Given the description of an element on the screen output the (x, y) to click on. 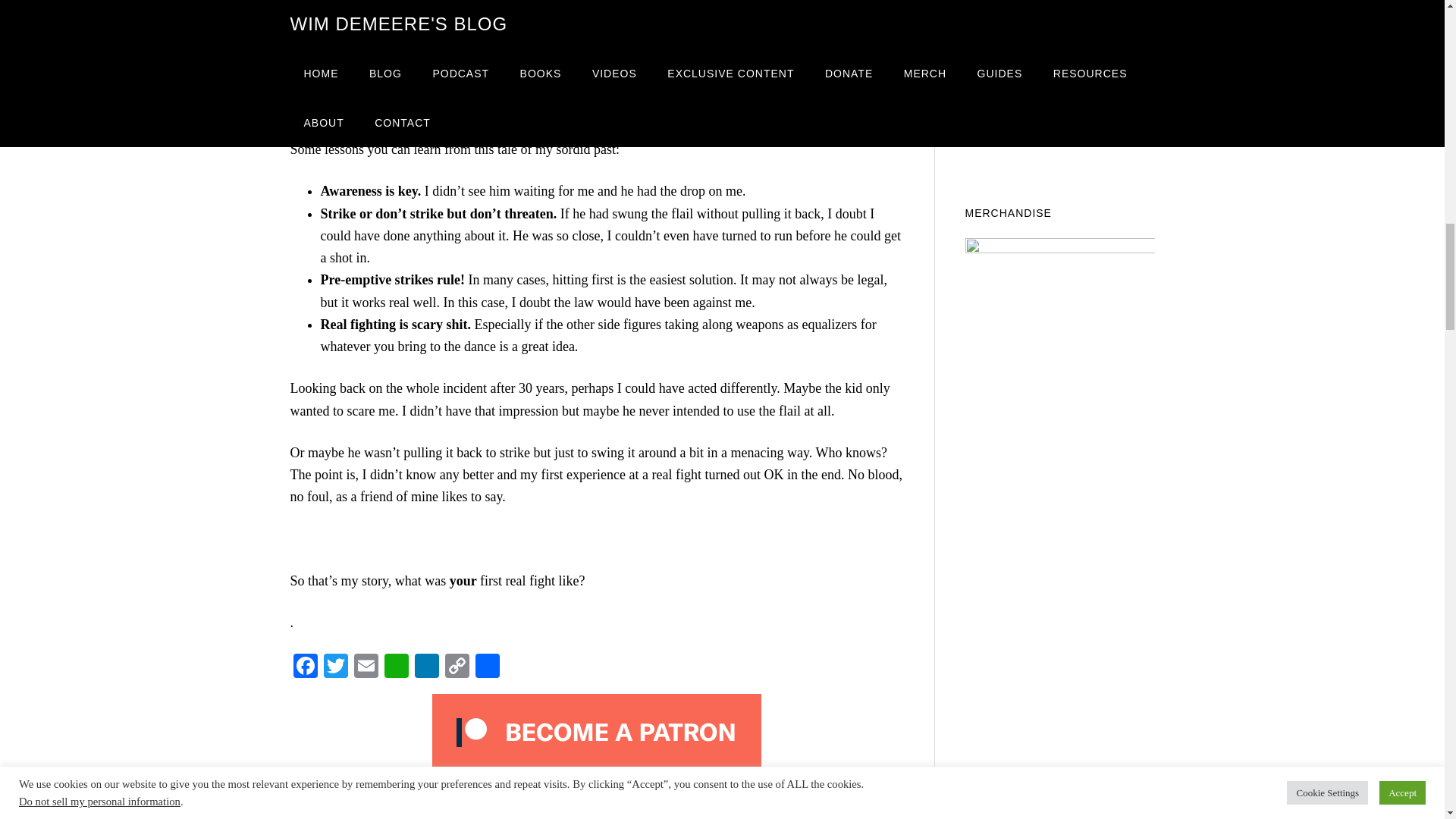
Facebook (304, 667)
Twitter (335, 667)
Copy Link (456, 667)
WhatsApp (395, 667)
LinkedIn (425, 667)
Facebook (304, 667)
Email (365, 667)
Copy Link (456, 667)
Email (365, 667)
What was your first fight like (596, 50)
